Given the description of an element on the screen output the (x, y) to click on. 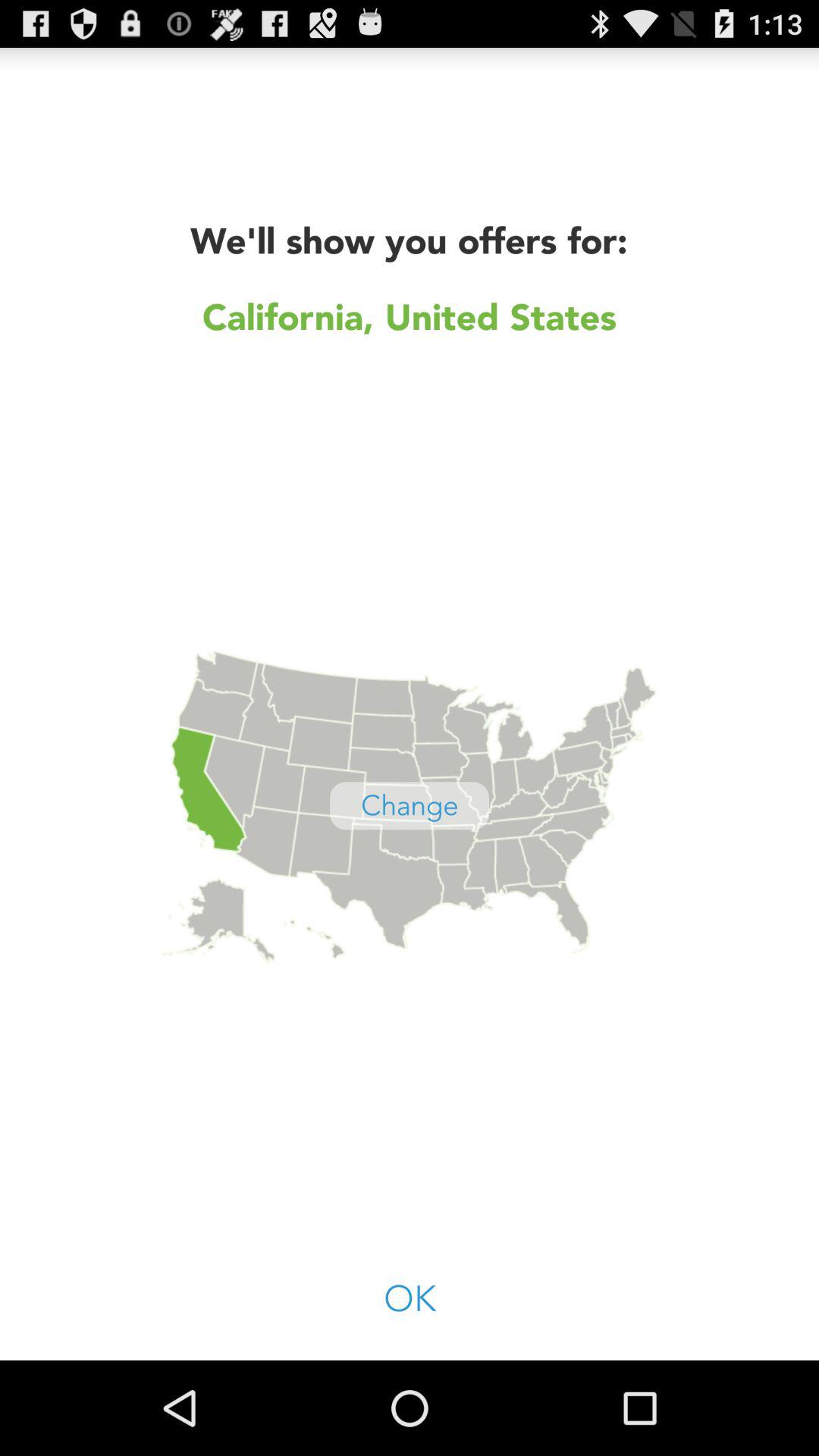
tap the change item (409, 805)
